Given the description of an element on the screen output the (x, y) to click on. 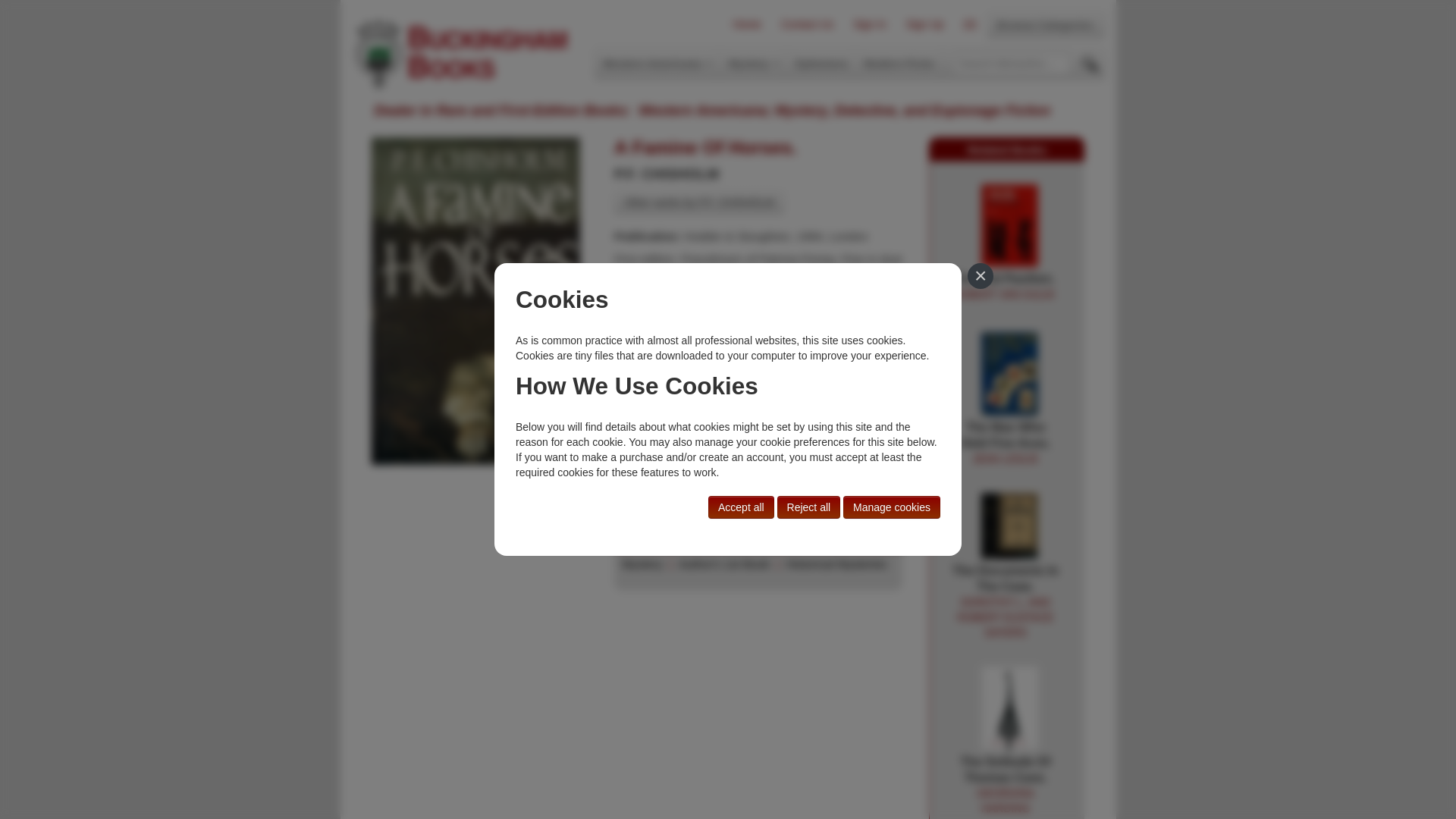
Ephemera (821, 63)
Author's 1st Book (724, 563)
The Man Who Held Five Aces. JEAN LESLIE (1009, 374)
The Documents In The Case. (1005, 601)
Sign Up (924, 24)
Historical Mysteries (836, 563)
Mystery (641, 563)
The Red Pavilion. ROBERT VAN GULIK (1009, 225)
The Man Who Held Five Aces. (1004, 443)
Browse Categories (1004, 443)
Zero items in shopping cart (1045, 24)
Contact Us (970, 24)
The Solitude Of Thomas Cave. GEORGINA HARDING (807, 24)
